Given the description of an element on the screen output the (x, y) to click on. 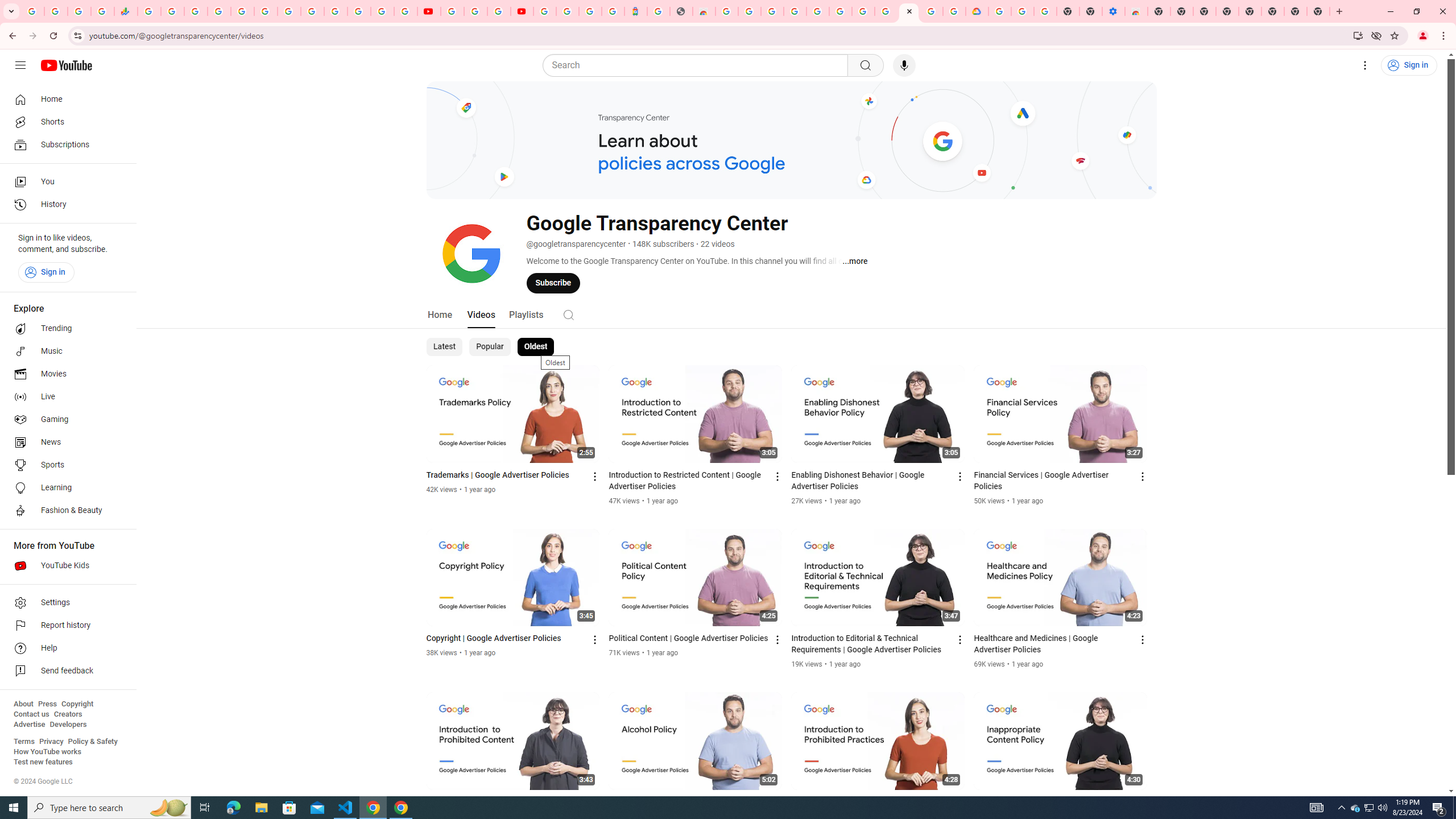
Search (567, 314)
Advertise (29, 724)
Create your Google Account (749, 11)
Settings (1365, 65)
YouTube Kids (64, 565)
Google Account Help (475, 11)
Google Account Help (863, 11)
New Tab (1158, 11)
Press (46, 703)
YouTube (312, 11)
Sign in - Google Accounts (335, 11)
